Given the description of an element on the screen output the (x, y) to click on. 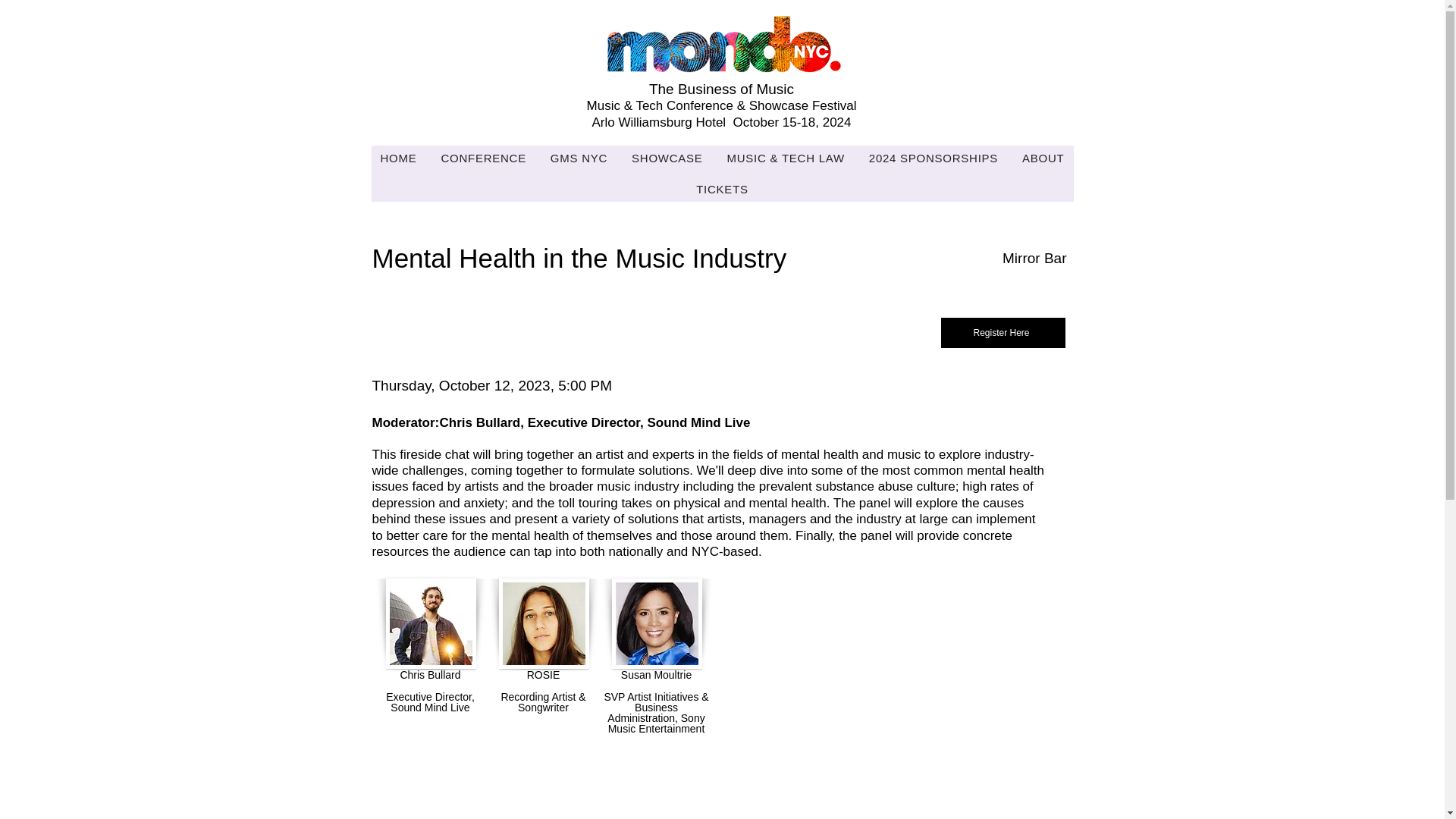
SHOWCASE (667, 157)
Register Here (1002, 332)
2024 SPONSORSHIPS (933, 157)
CONFERENCE (482, 157)
TICKETS (722, 188)
HOME (398, 157)
ABOUT (1043, 157)
Executive Director, Sound Mind Live (430, 623)
